Given the description of an element on the screen output the (x, y) to click on. 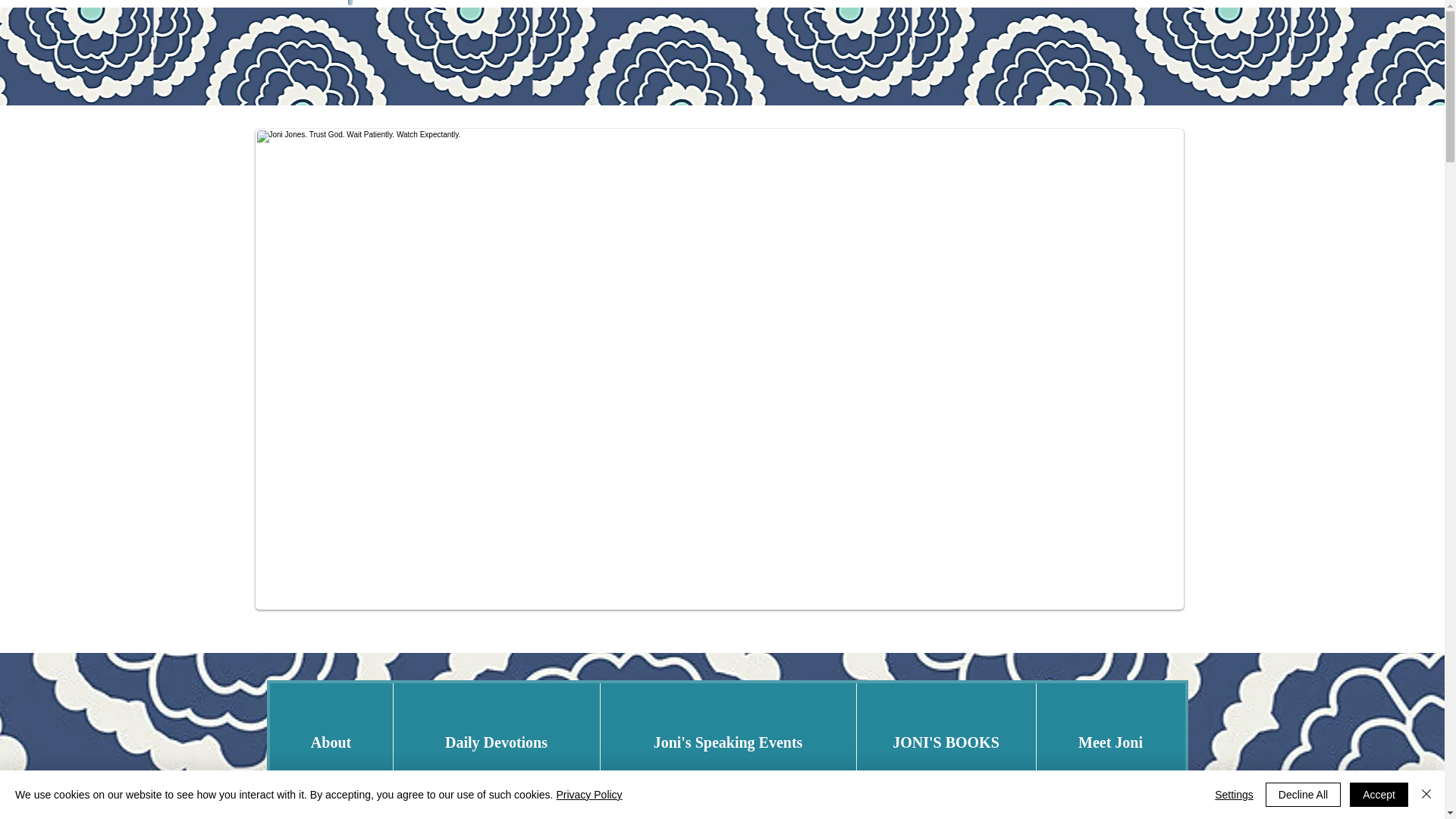
Joni's Speaking Events (727, 742)
Daily Devotions (496, 742)
Decline All (1302, 794)
About (331, 742)
Meet Joni (1110, 742)
Accept (1378, 794)
Privacy Policy (588, 794)
JONI'S BOOKS (945, 742)
